Given the description of an element on the screen output the (x, y) to click on. 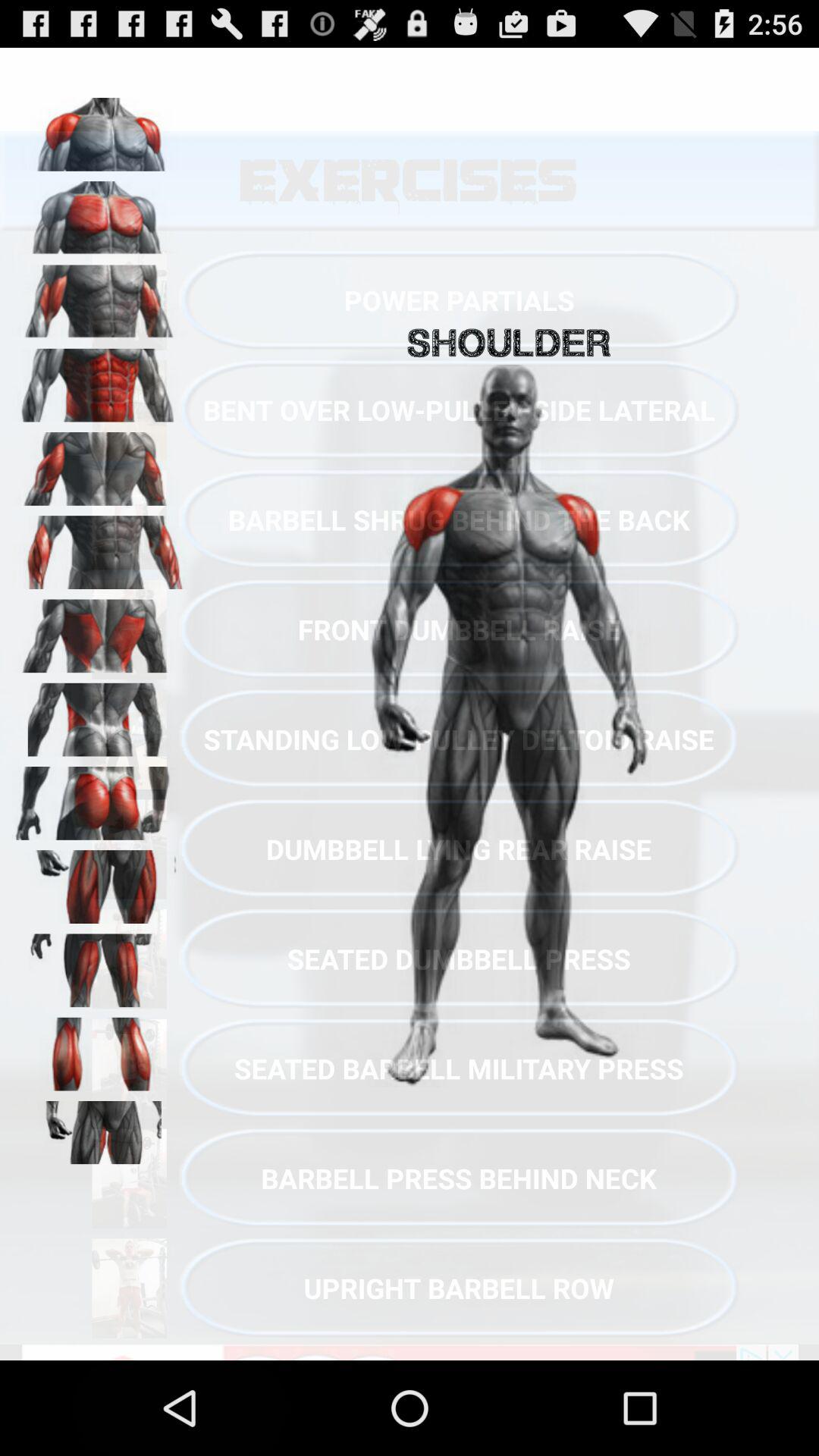
shows shoulder muscles (99, 212)
